Given the description of an element on the screen output the (x, y) to click on. 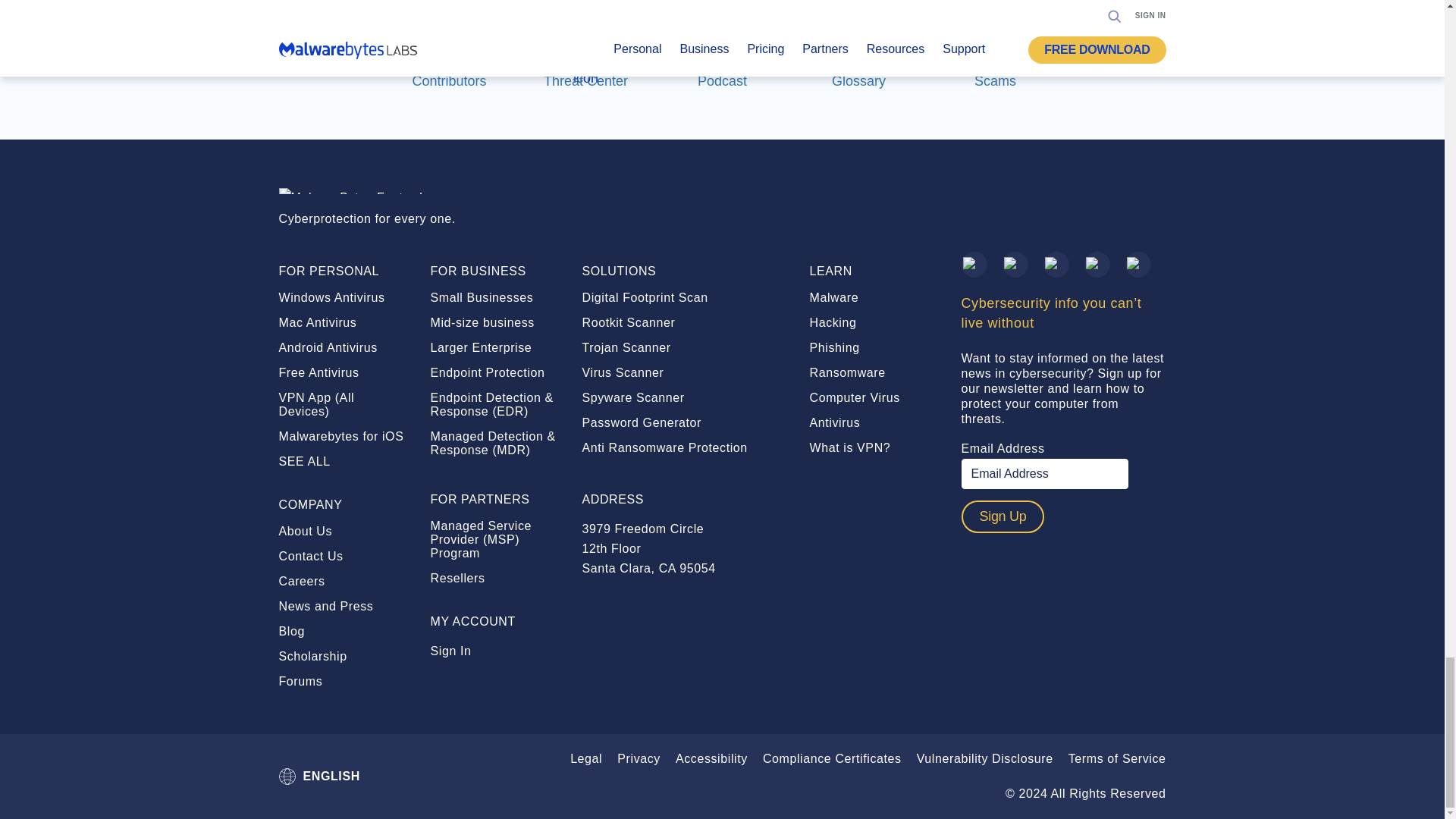
Sign Up (1002, 516)
